Given the description of an element on the screen output the (x, y) to click on. 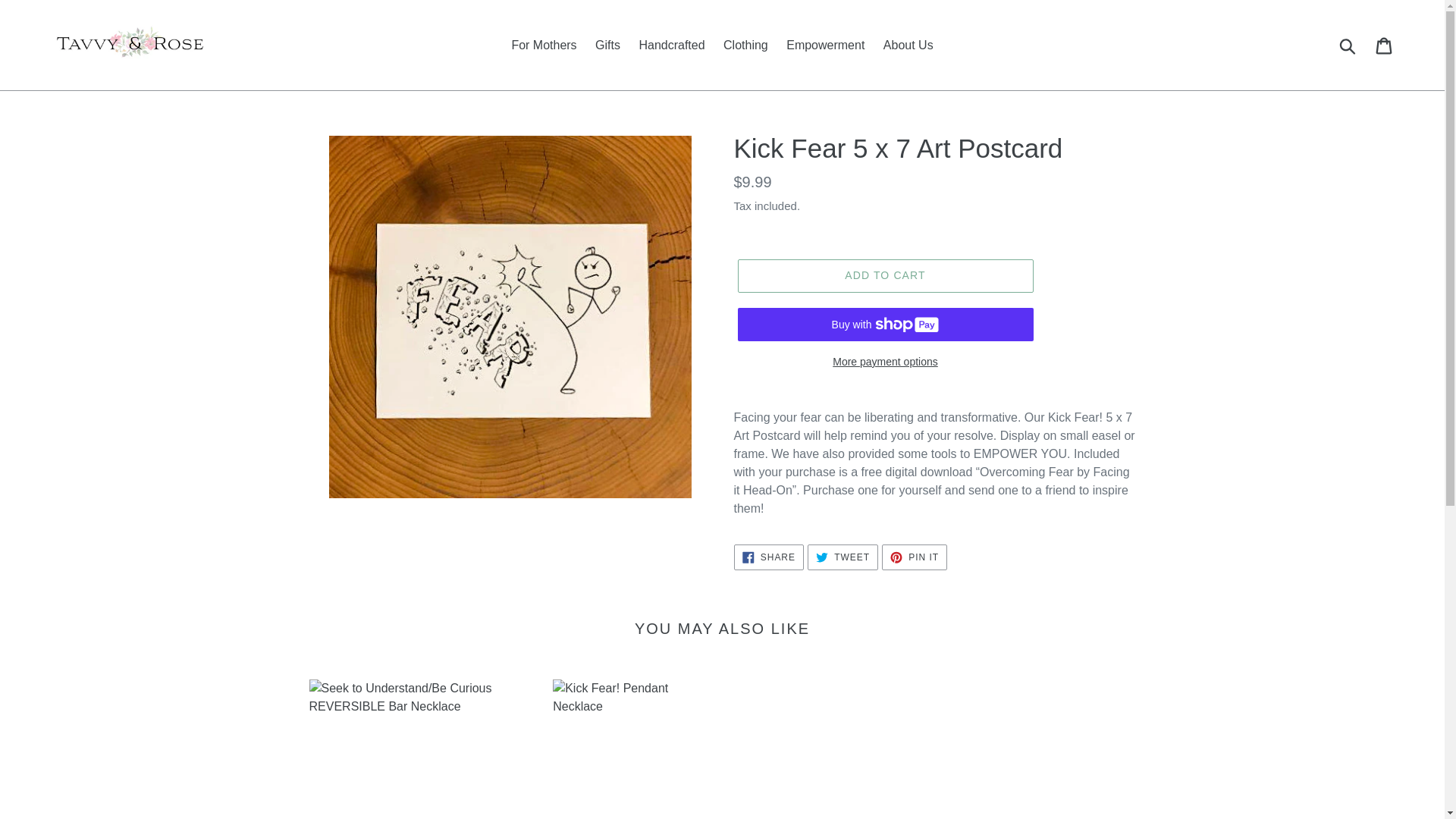
Kick Fear! Pendant Necklace (616, 749)
About Us (908, 44)
ADD TO CART (884, 275)
Empowerment (842, 557)
More payment options (825, 44)
For Mothers (914, 557)
Cart (884, 361)
Clothing (543, 44)
Handcrafted (1385, 44)
Submit (746, 44)
Gifts (670, 44)
